Given the description of an element on the screen output the (x, y) to click on. 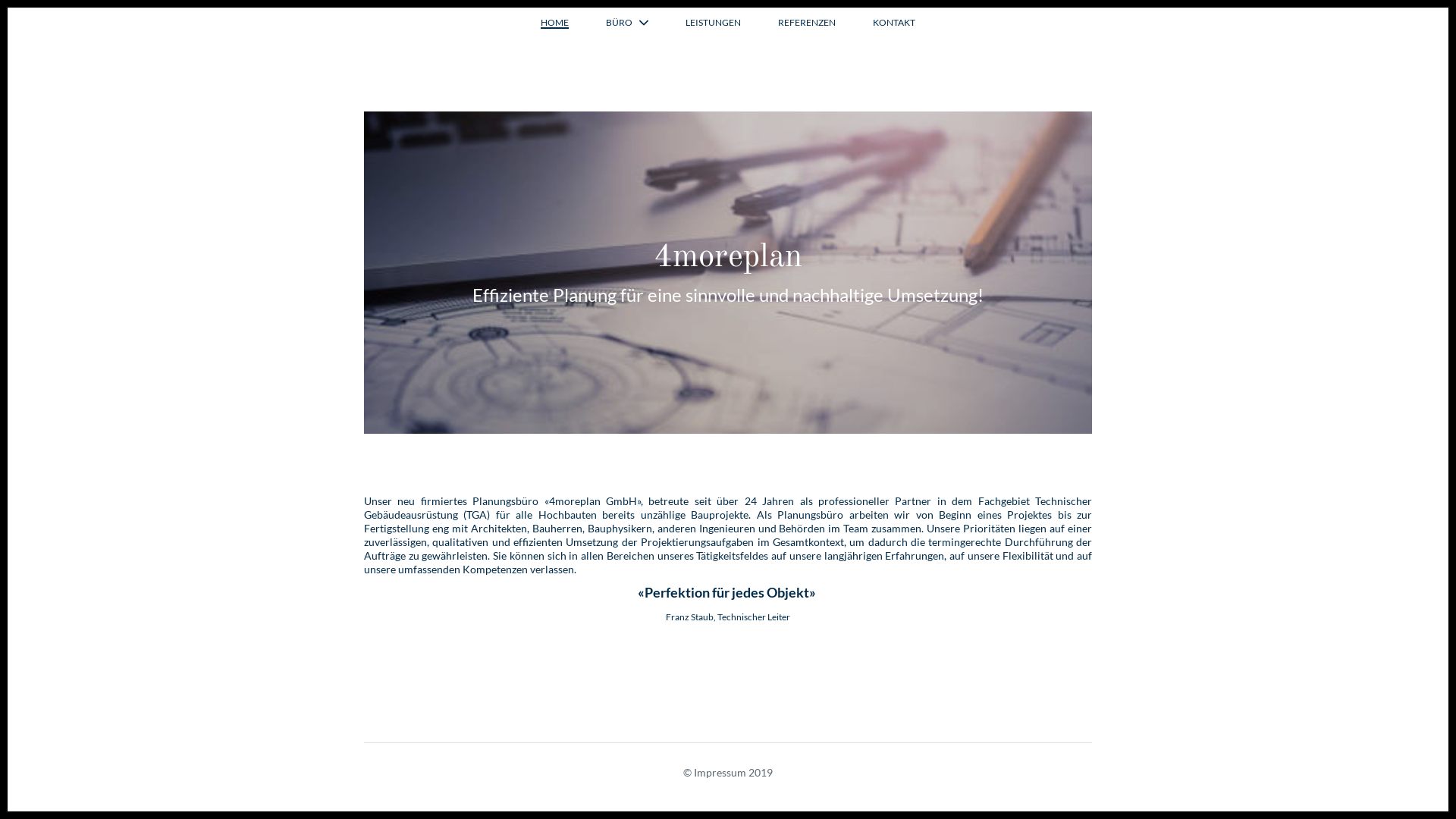
KONTAKT Element type: text (893, 22)
LEISTUNGEN Element type: text (713, 22)
HOME Element type: text (554, 23)
REFERENZEN Element type: text (806, 22)
